Given the description of an element on the screen output the (x, y) to click on. 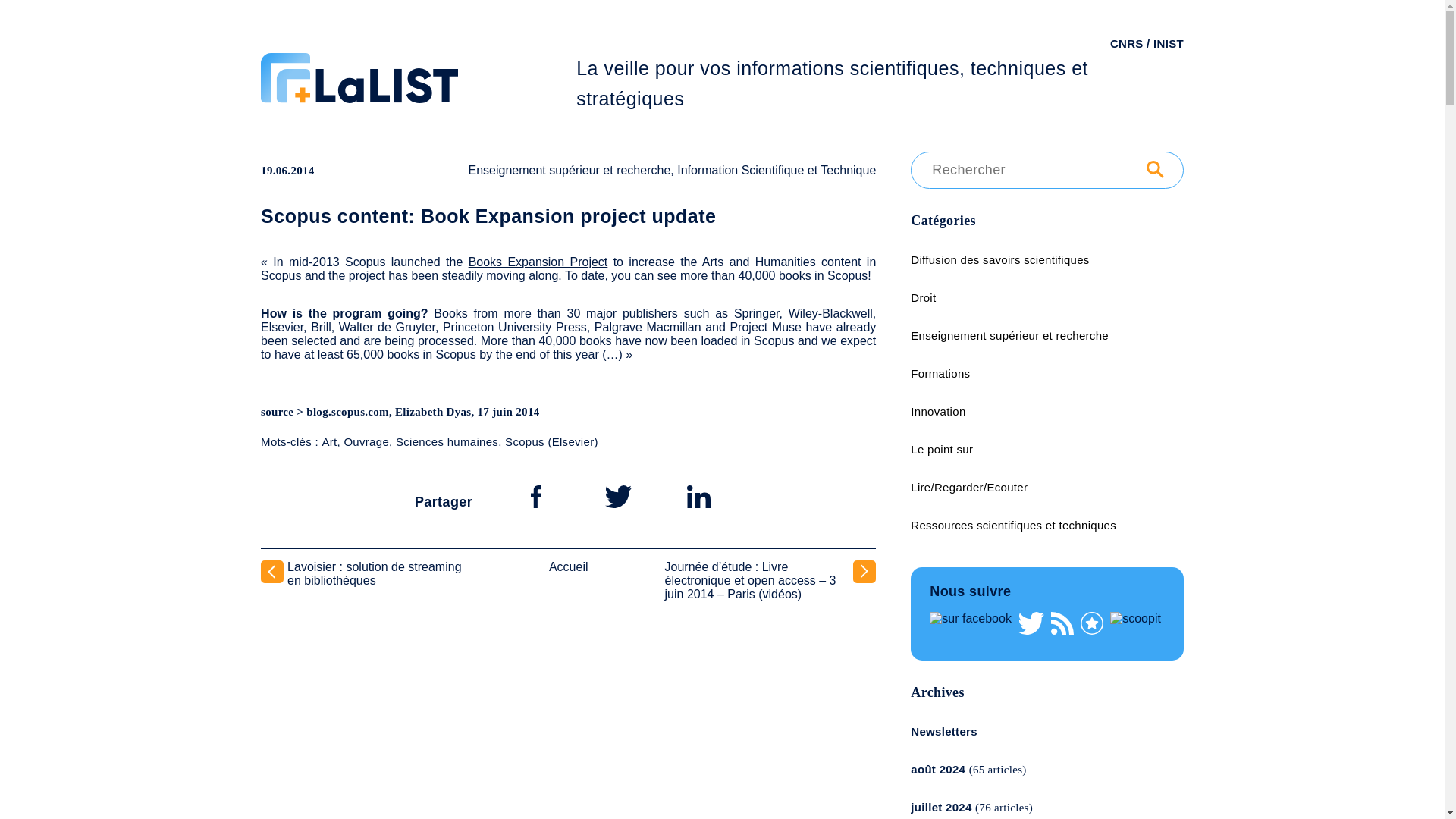
Cliquez pour partager sur LinkedIn (698, 496)
Le point sur (941, 449)
Droit (923, 297)
Cliquez pour partager sur Facebook (535, 496)
Art (328, 440)
Scopus content: Book Expansion project update (488, 215)
Formations (940, 373)
Ouvrage (365, 440)
steadily moving along (499, 274)
accueil du site (418, 102)
